Given the description of an element on the screen output the (x, y) to click on. 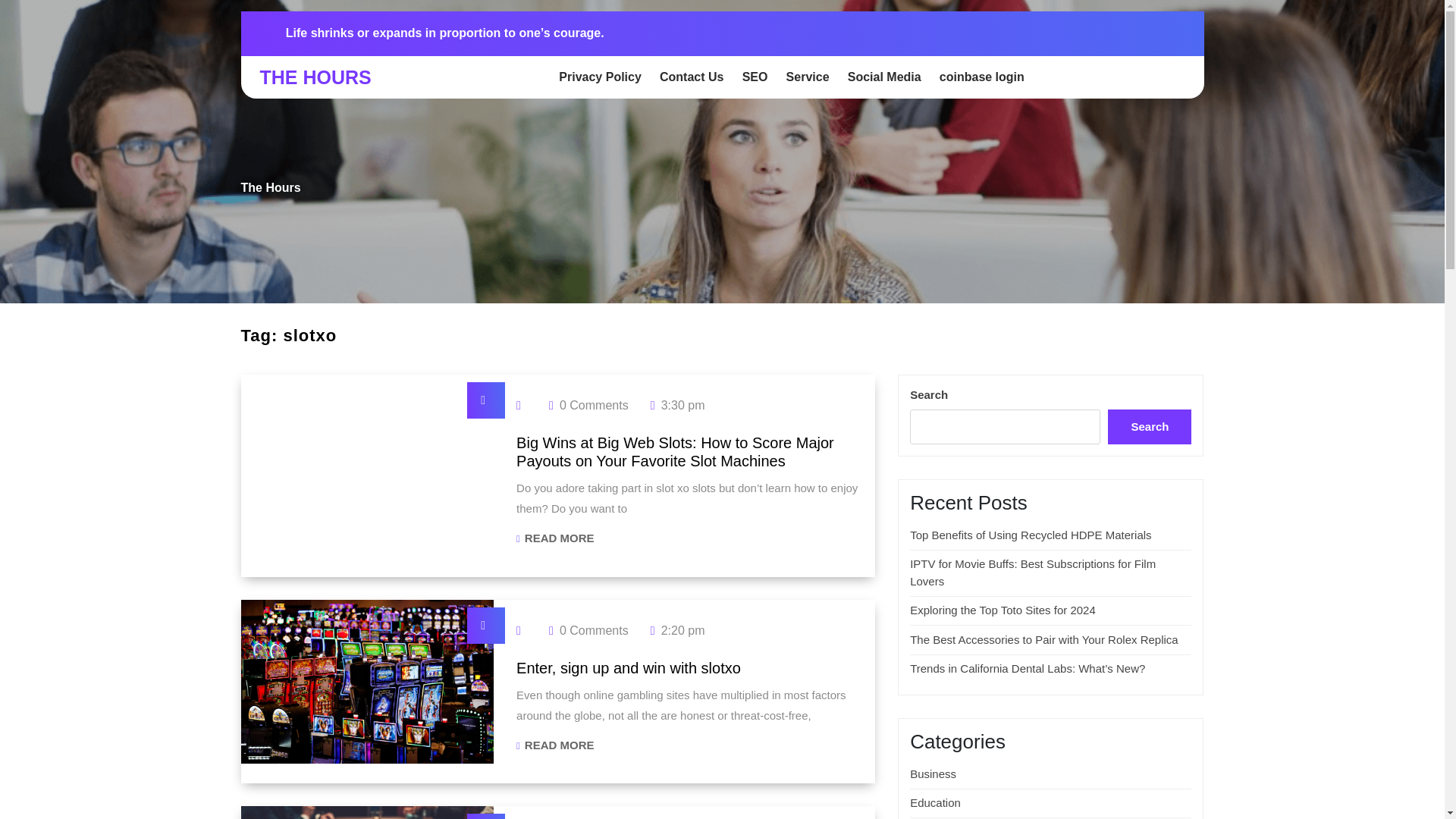
IPTV for Movie Buffs: Best Subscriptions for Film Lovers (1033, 572)
The Best Accessories to Pair with Your Rolex Replica (1043, 639)
Exploring the Top Toto Sites for 2024 (1003, 609)
SEO (755, 77)
THE HOURS (315, 76)
Top Benefits of Using Recycled HDPE Materials (555, 537)
Business (1030, 534)
Privacy Policy (933, 773)
